Given the description of an element on the screen output the (x, y) to click on. 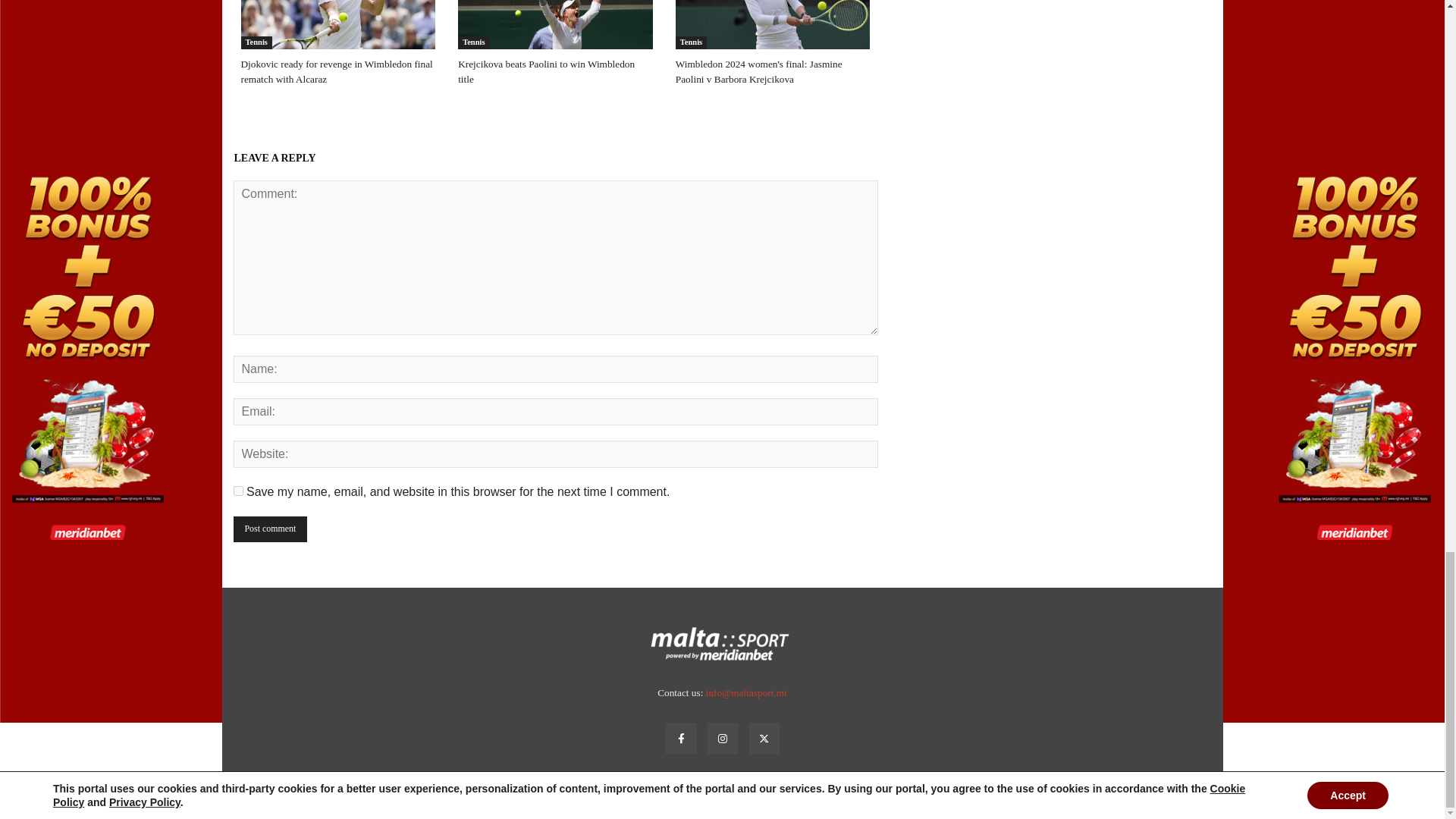
Post comment (269, 529)
yes (237, 491)
